Given the description of an element on the screen output the (x, y) to click on. 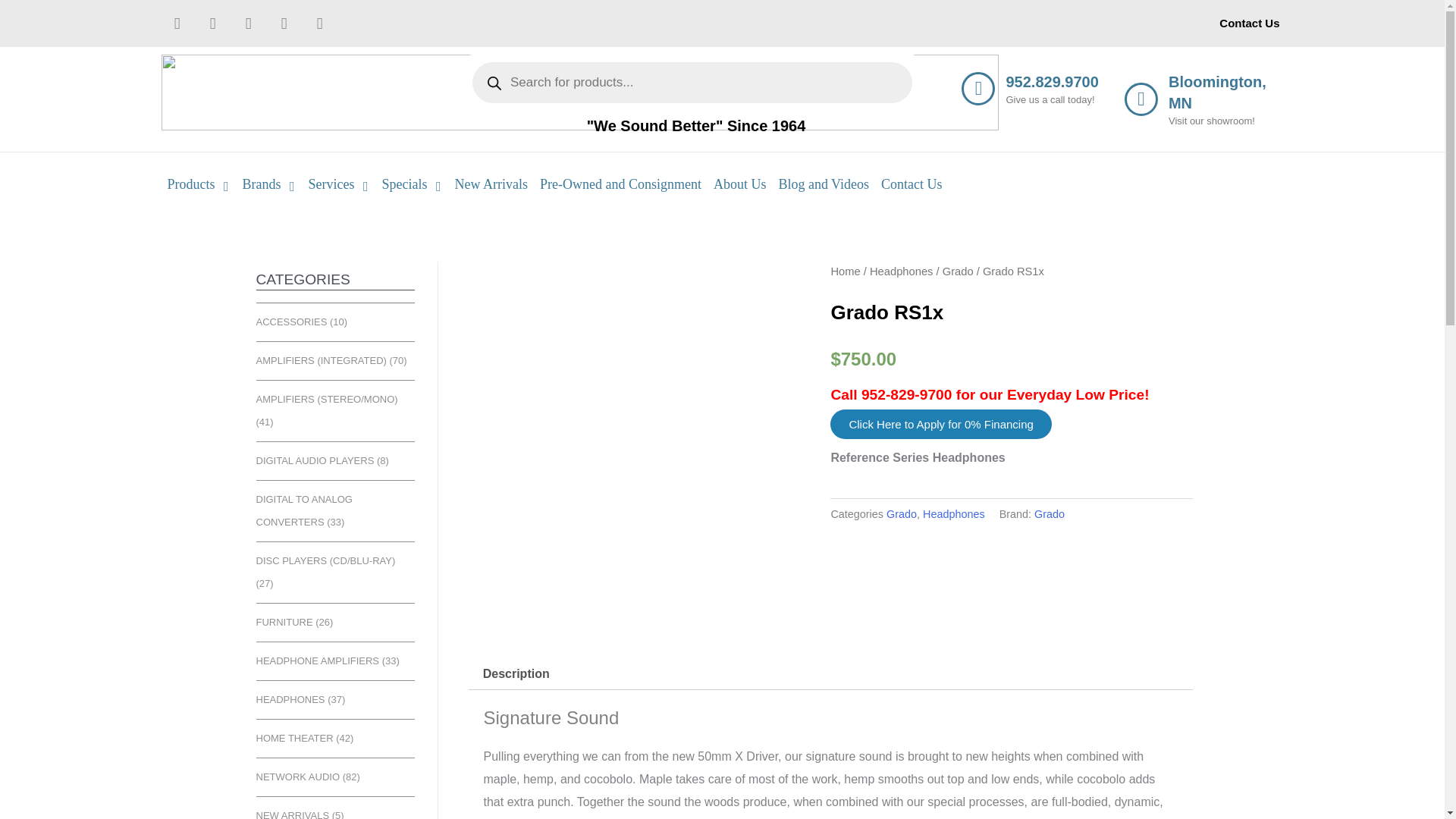
952.829.9700 (1051, 81)
Products (197, 183)
Bloomington, MN (1217, 92)
Contact Us (1248, 22)
